Given the description of an element on the screen output the (x, y) to click on. 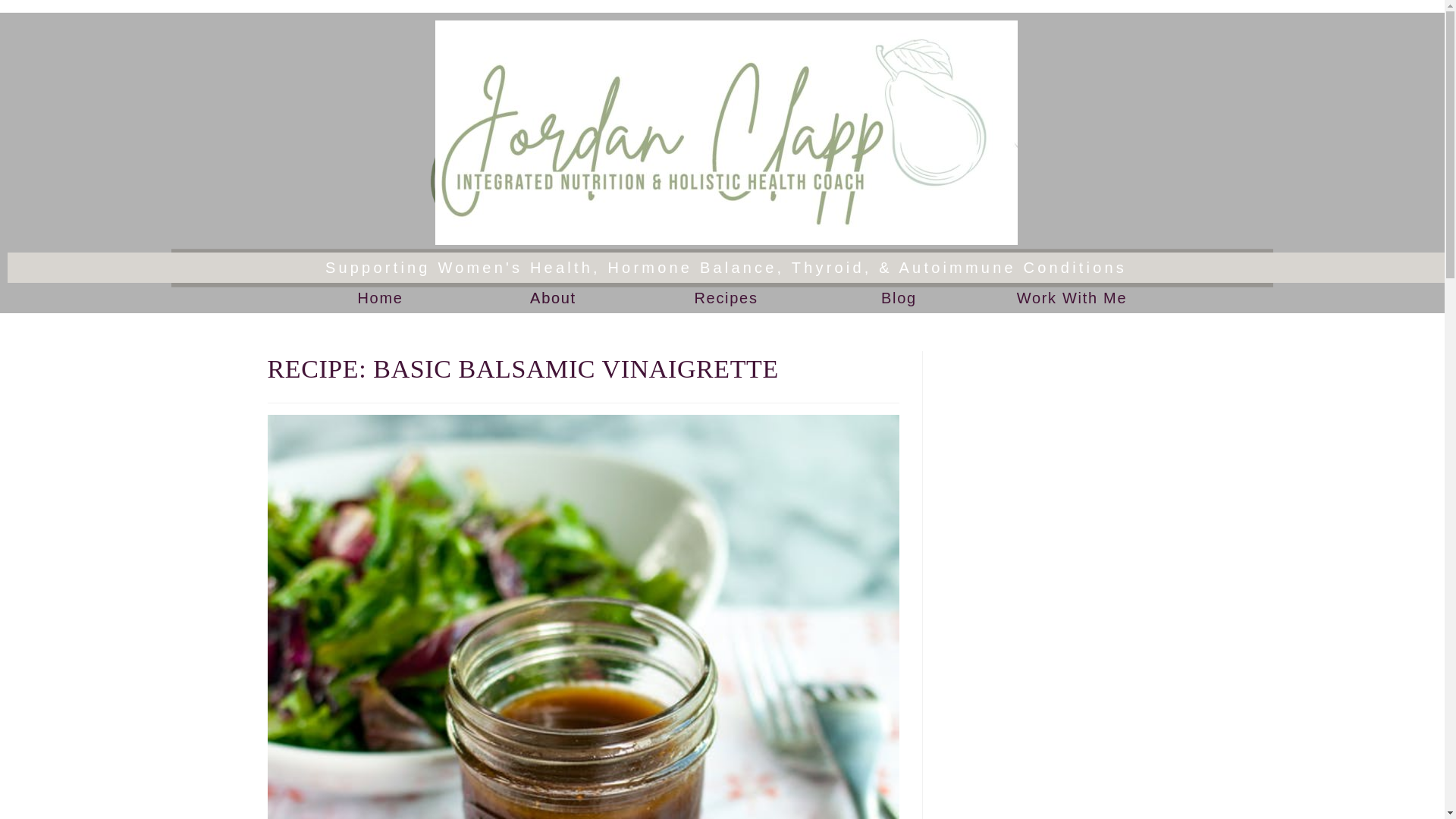
Blog (898, 297)
Work With Me (1071, 297)
About (552, 297)
Recipes (725, 297)
